Given the description of an element on the screen output the (x, y) to click on. 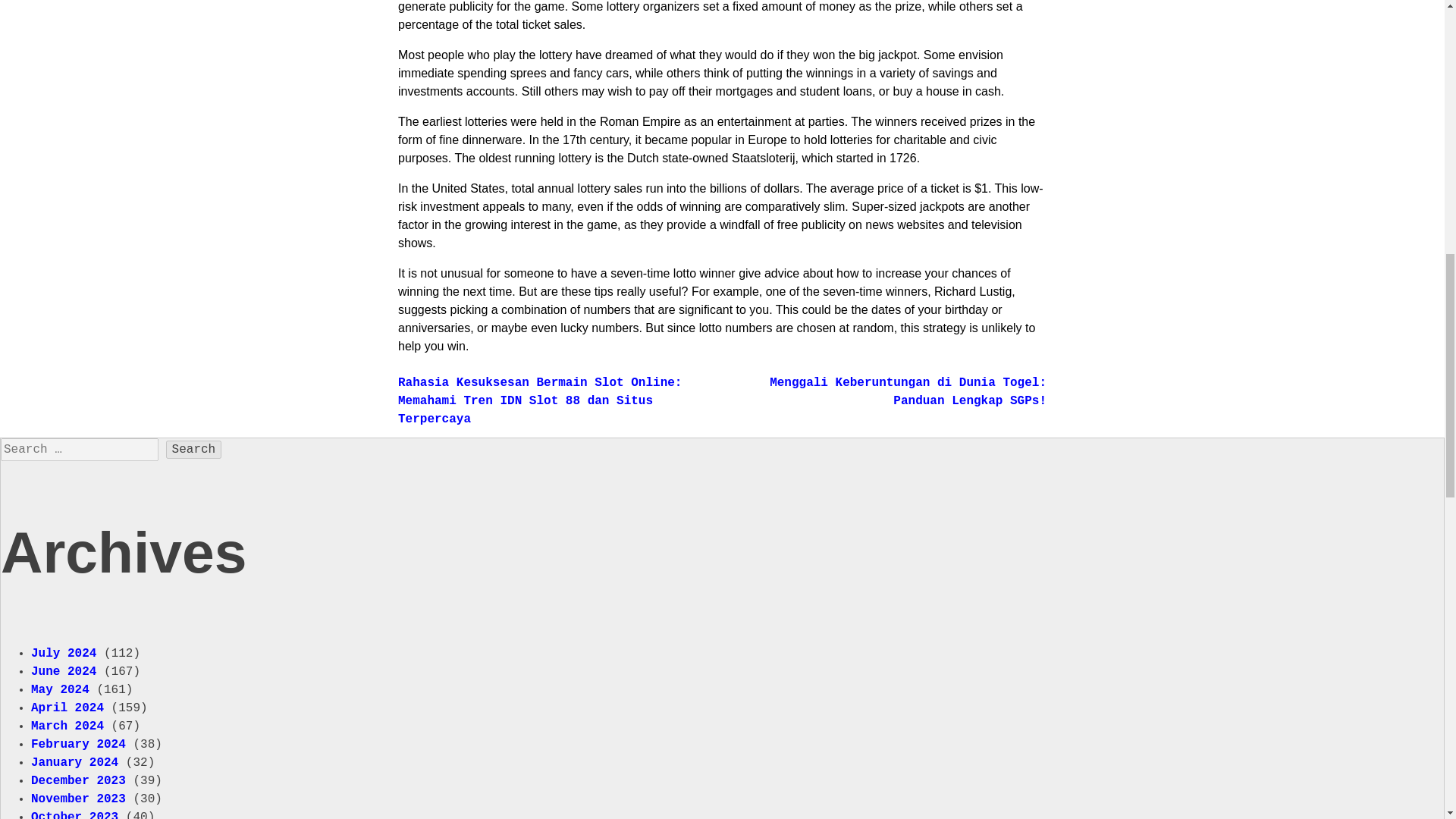
February 2024 (77, 744)
May 2024 (59, 689)
Menggali Keberuntungan di Dunia Togel: Panduan Lengkap SGPs! (908, 391)
October 2023 (73, 814)
December 2023 (77, 780)
July 2024 (63, 653)
Search (193, 449)
Search (193, 449)
June 2024 (63, 671)
November 2023 (77, 798)
April 2024 (66, 707)
Search (193, 449)
March 2024 (66, 726)
January 2024 (73, 762)
